Given the description of an element on the screen output the (x, y) to click on. 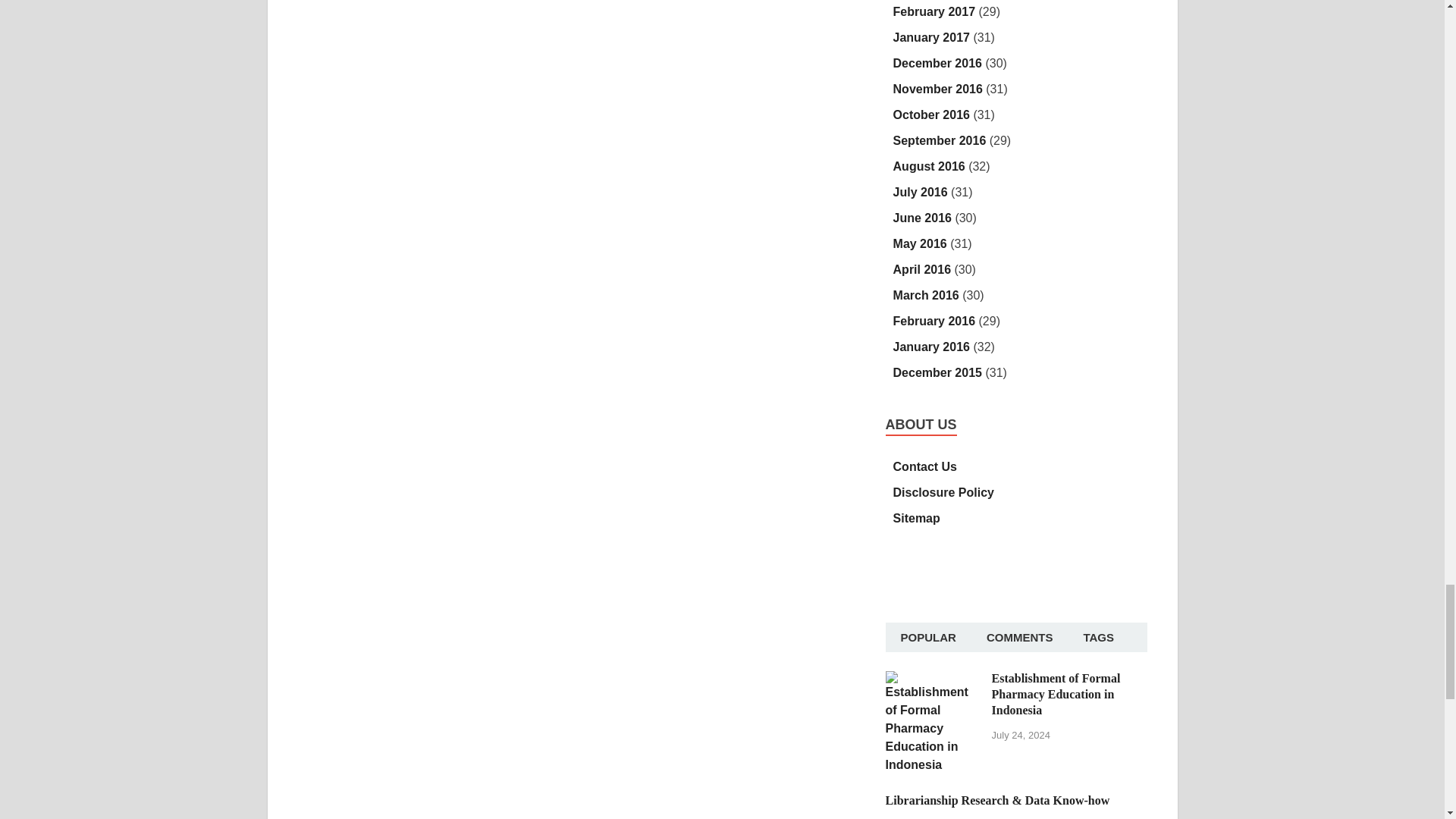
Establishment of Formal Pharmacy Education in Indonesia (932, 679)
